Given the description of an element on the screen output the (x, y) to click on. 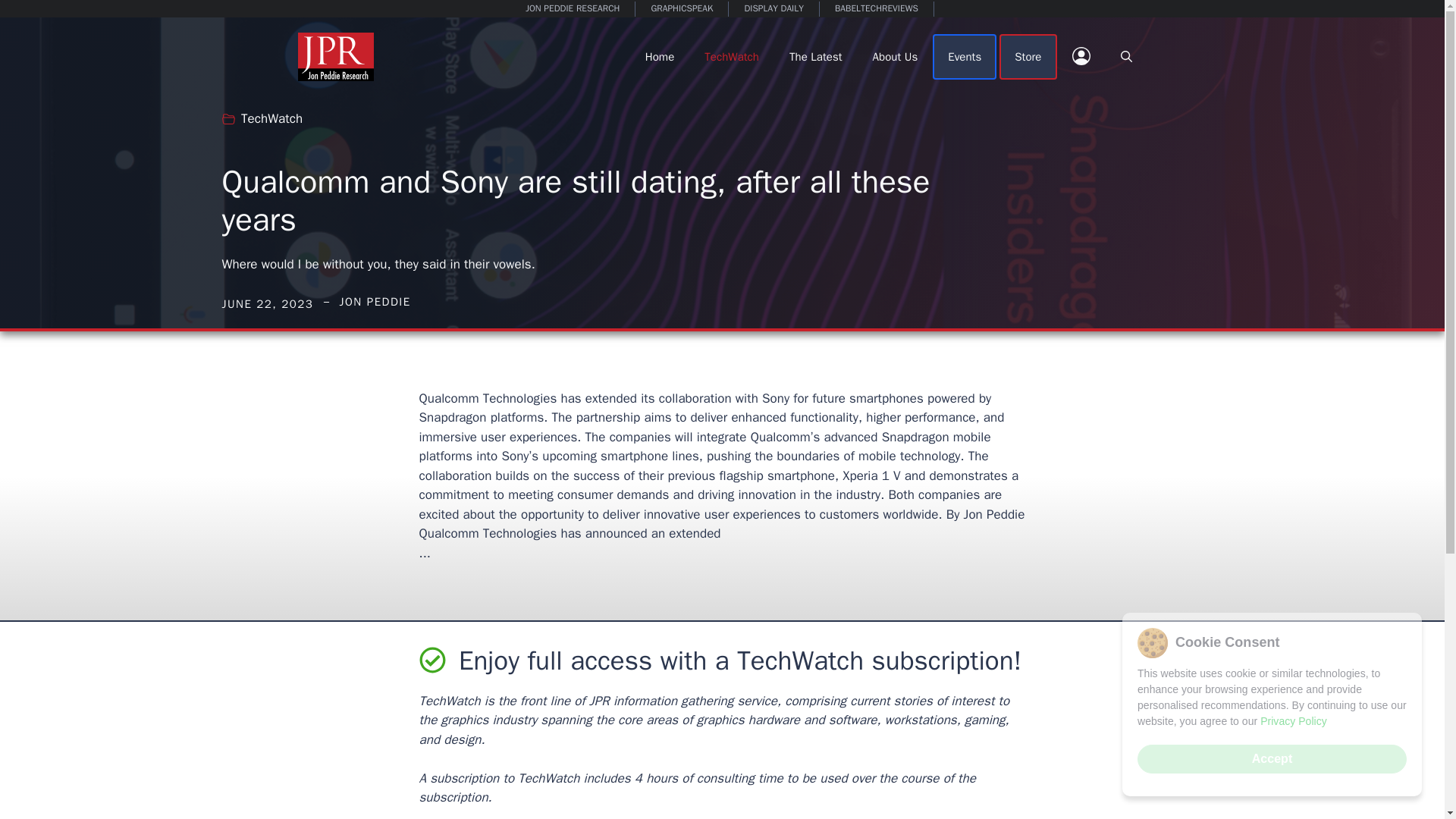
Home (660, 56)
DISPLAY DAILY (773, 8)
Store (1027, 56)
TechWatch (271, 118)
Accept (1271, 758)
Privacy Policy (1293, 721)
JON PEDDIE RESEARCH (572, 8)
BABELTECHREVIEWS (876, 8)
The Latest (815, 56)
About Us (895, 56)
